Given the description of an element on the screen output the (x, y) to click on. 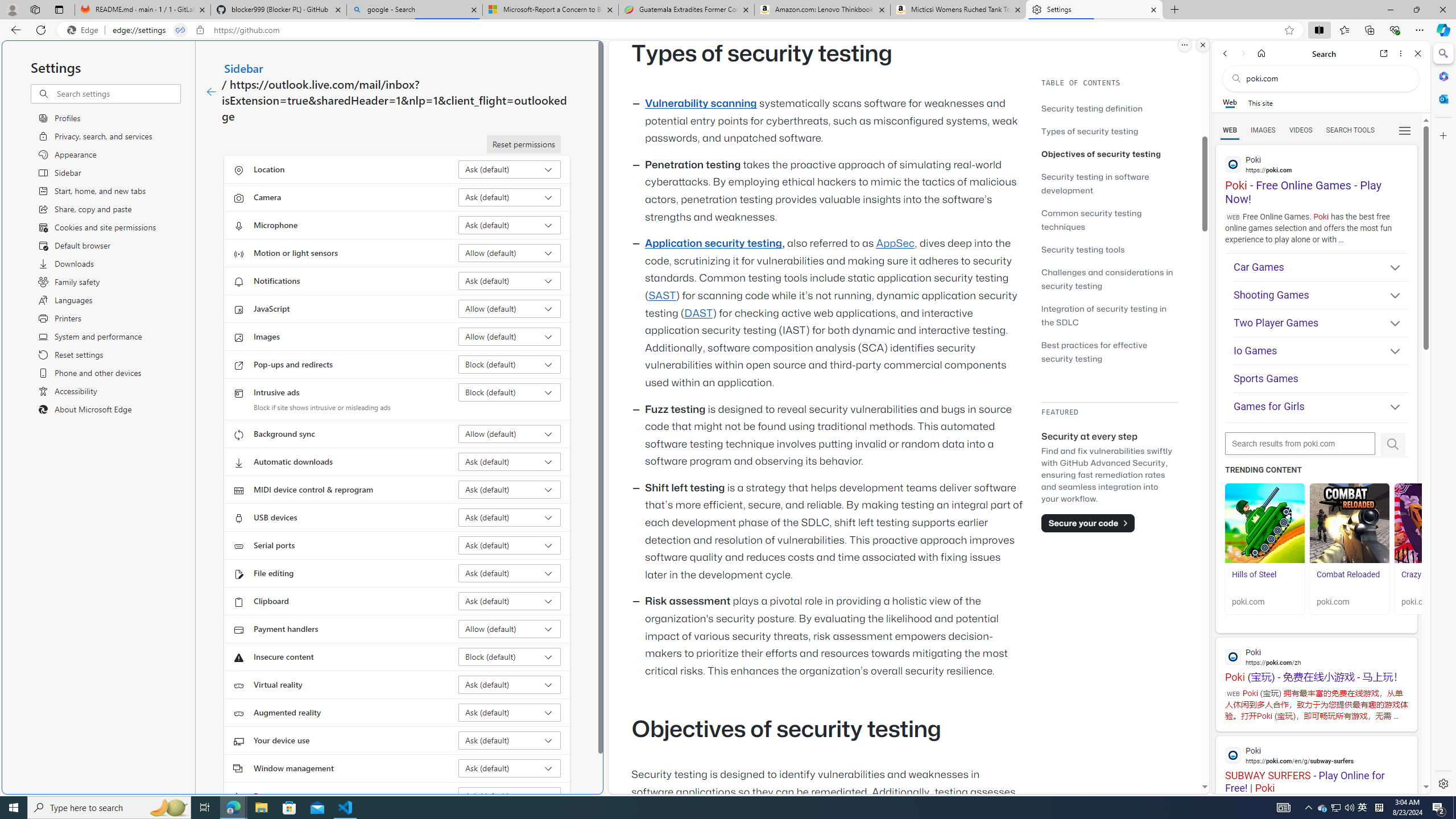
Show More Shooting Games (1390, 296)
Insecure content Block (default) (509, 656)
Motion or light sensors Allow (default) (509, 253)
Secure your code (1088, 522)
Search settings (117, 93)
Two Player Games (1320, 323)
Window management Ask (default) (509, 768)
Microphone Ask (default) (509, 225)
Show More Io Games (1390, 351)
File editing Ask (default) (509, 573)
